Given the description of an element on the screen output the (x, y) to click on. 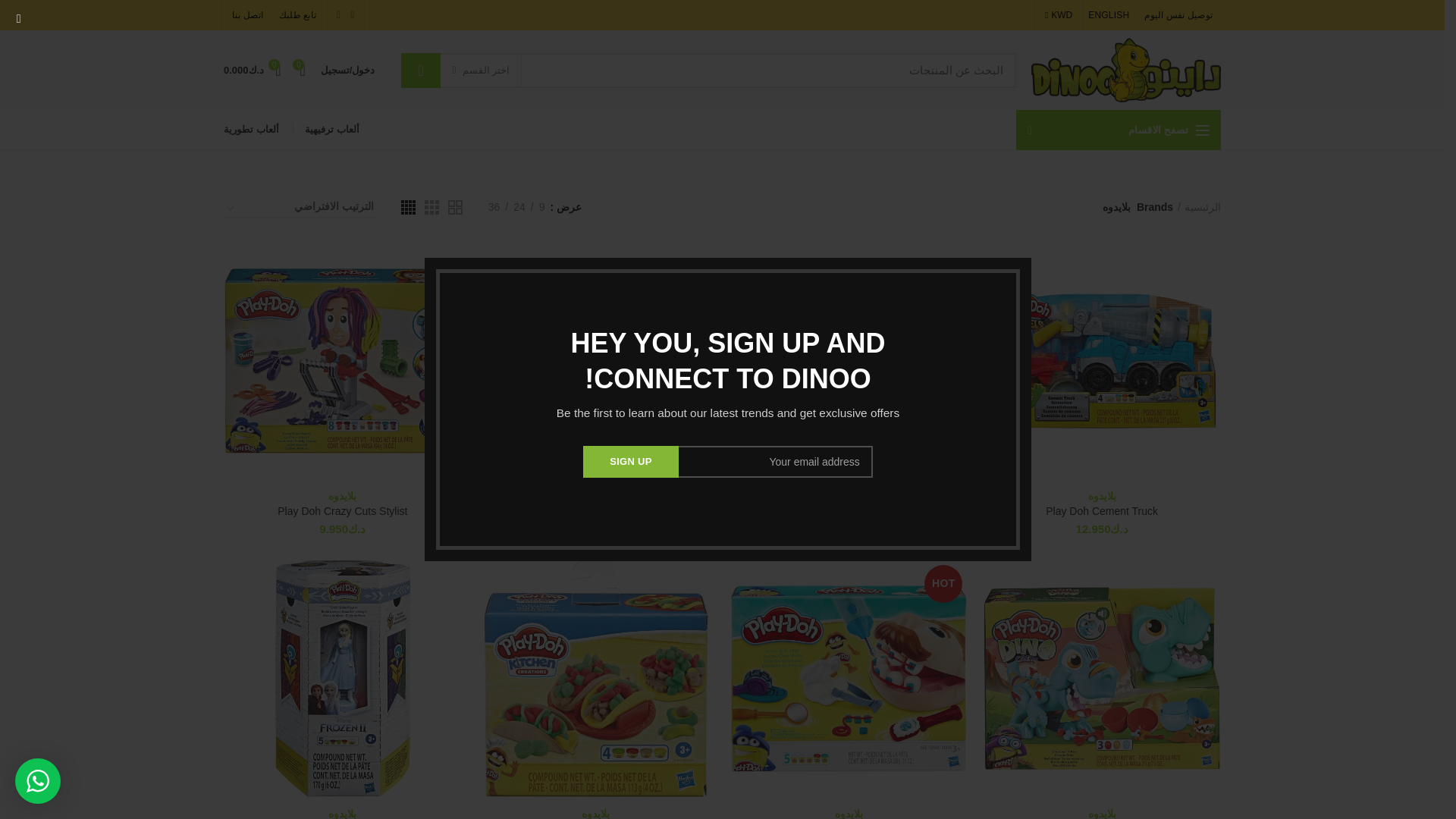
Instagram (338, 14)
Sign up (630, 461)
Facebook (352, 14)
KWD (1058, 15)
Sign up (630, 461)
ENGLISH (1108, 15)
English (1108, 15)
